Given the description of an element on the screen output the (x, y) to click on. 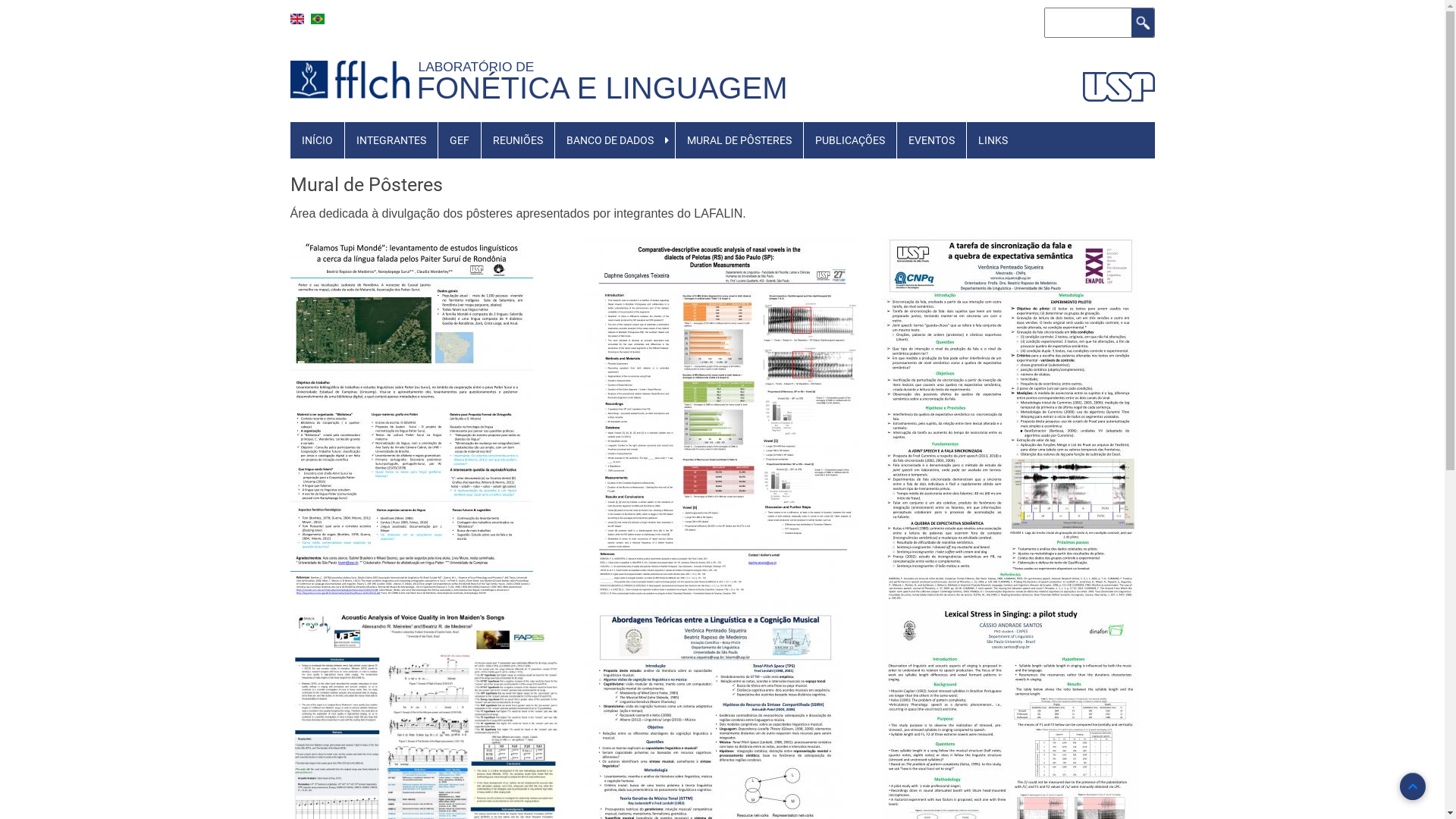
LINKS Element type: text (992, 140)
Portuguese, Brazil Element type: hover (317, 18)
INTEGRANTES Element type: text (390, 140)
GEF Element type: text (459, 140)
Buscar Element type: text (1142, 22)
English Element type: hover (296, 18)
Back to Top Element type: hover (1412, 786)
EVENTOS Element type: text (931, 140)
BANCO DE DADOS Element type: text (610, 140)
